Given the description of an element on the screen output the (x, y) to click on. 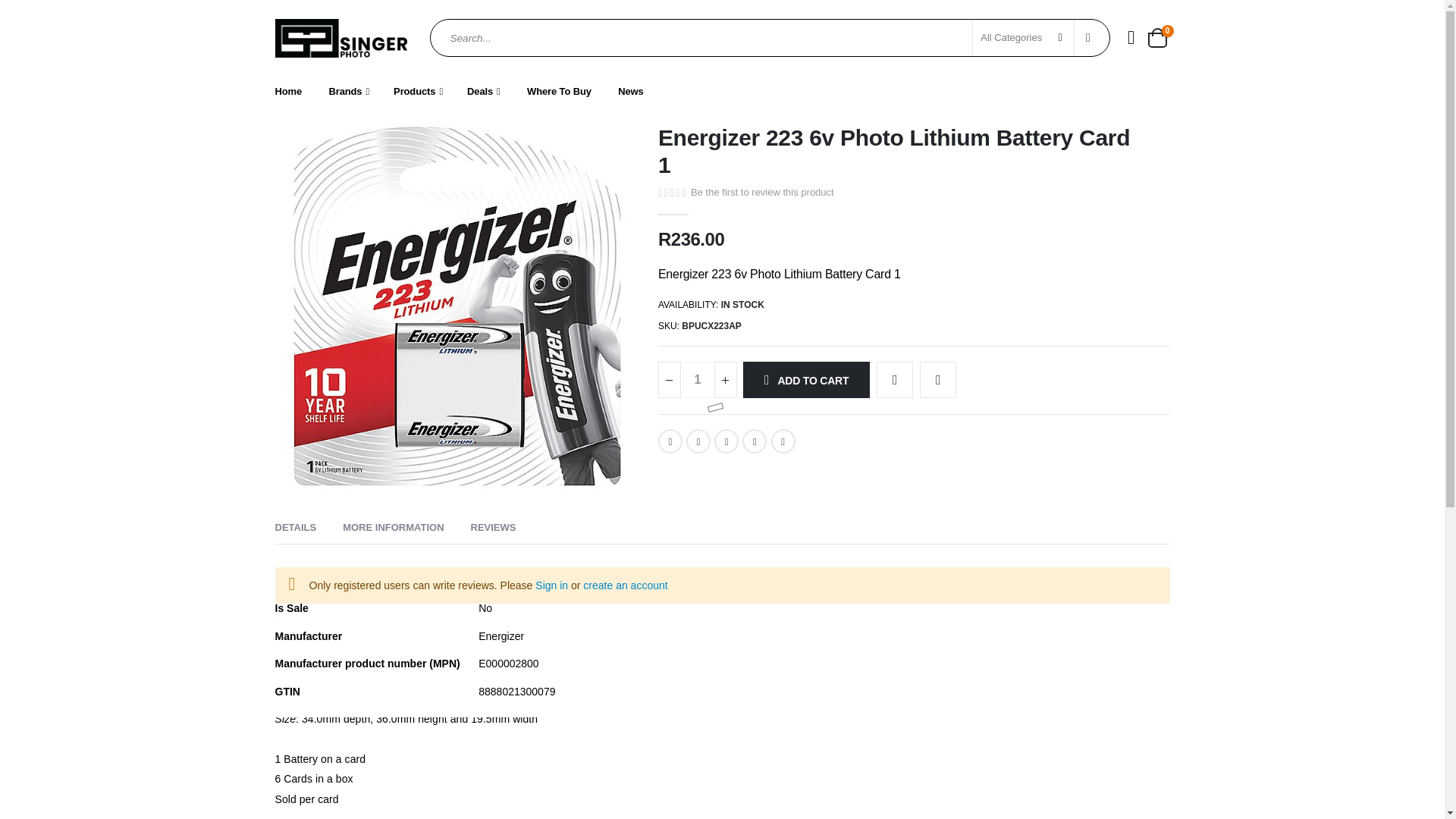
1 (697, 379)
Brands (1156, 37)
Brands (361, 92)
Home (361, 92)
Search (300, 92)
